Given the description of an element on the screen output the (x, y) to click on. 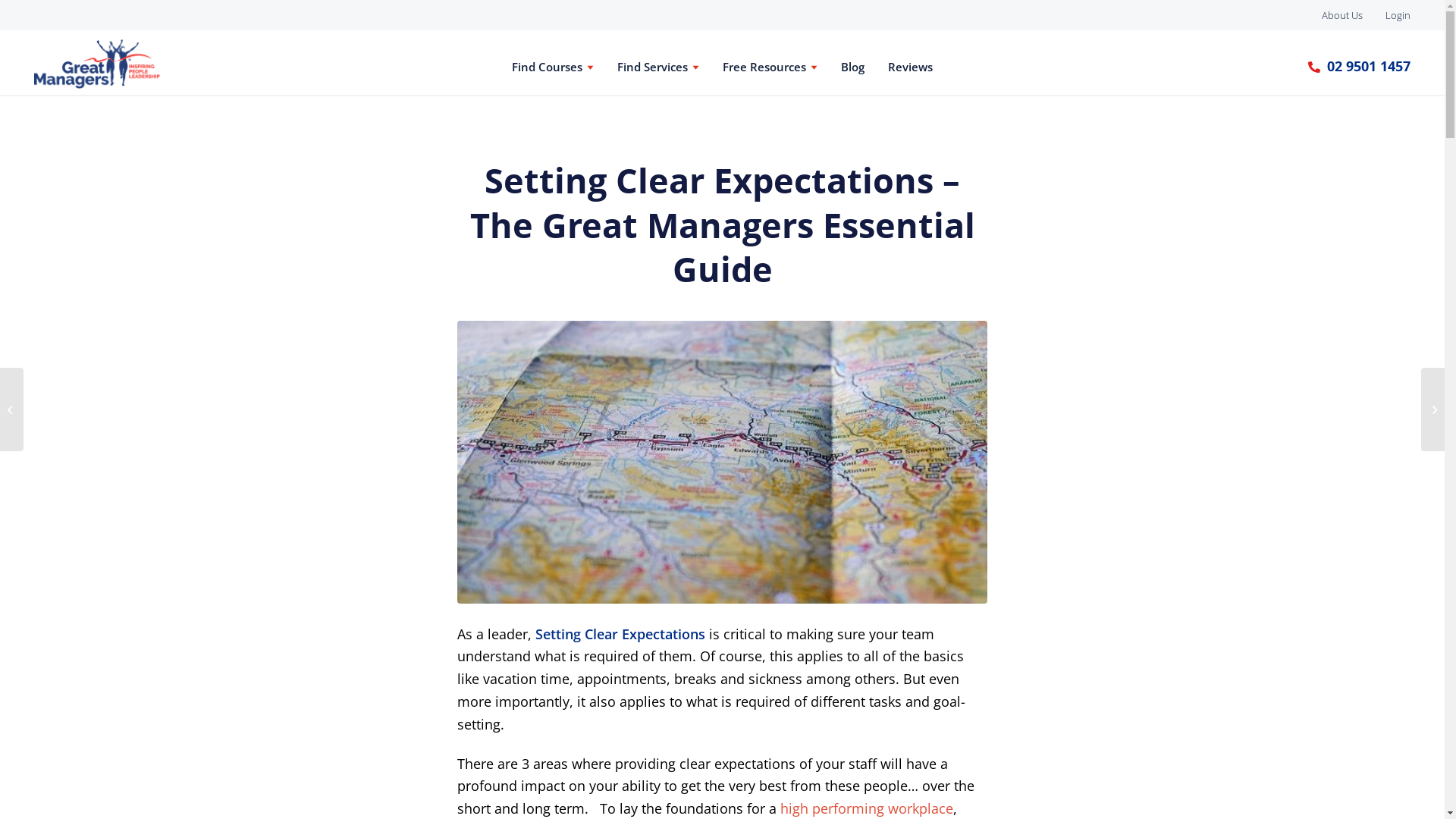
Reviews Element type: text (910, 66)
About Us Element type: text (1341, 15)
high performing workplace Element type: text (866, 808)
Free Resources Element type: text (769, 66)
Blog Element type: text (852, 66)
02 9501 1457 Element type: text (1357, 66)
Find Services Element type: text (658, 66)
Login Element type: text (1397, 15)
setting clear expectations Element type: hover (722, 461)
Find Courses Element type: text (552, 66)
